Given the description of an element on the screen output the (x, y) to click on. 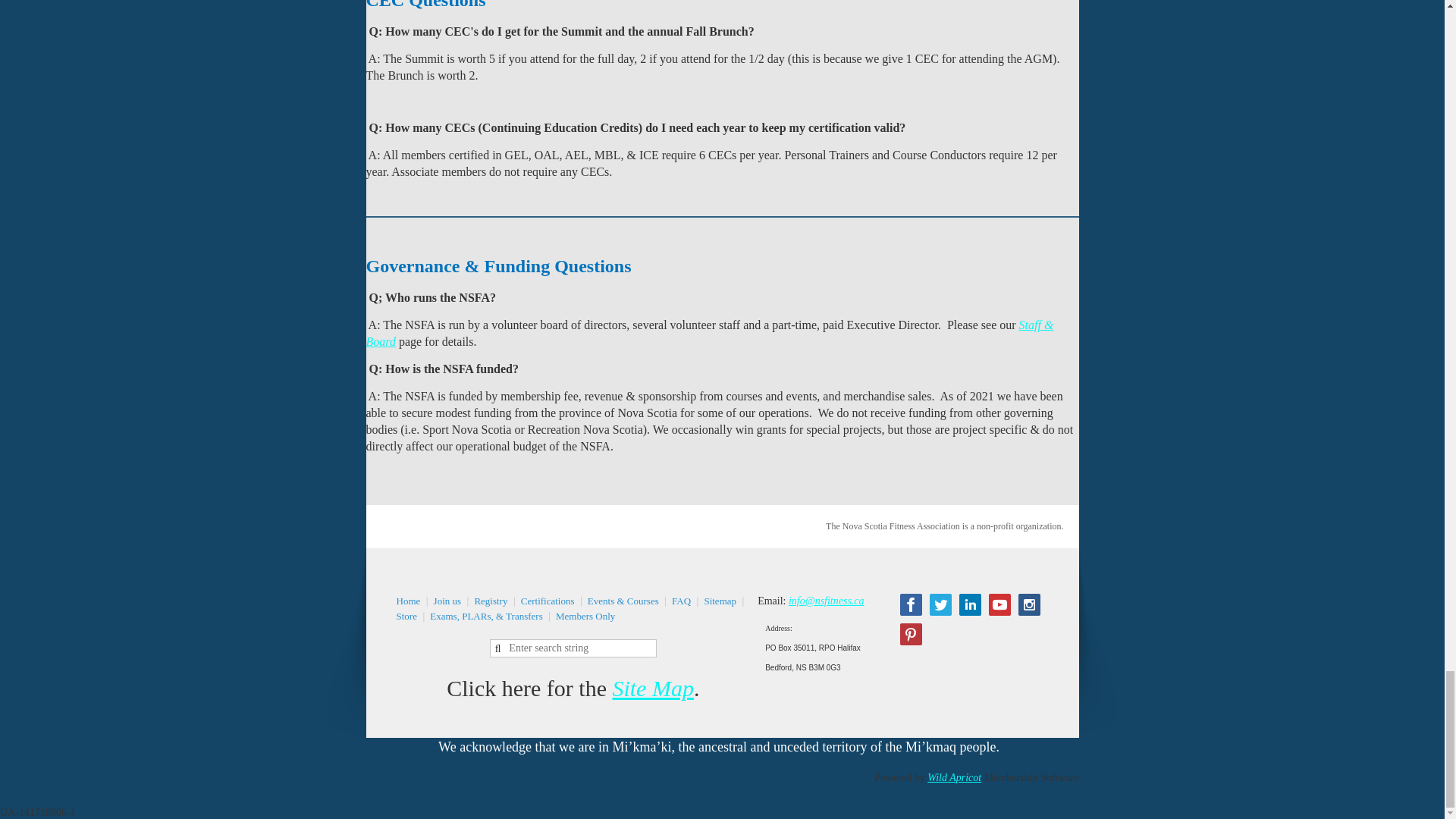
Twitter (941, 604)
Facebook (910, 604)
YouTube (999, 604)
Instagram (1029, 604)
LinkedIn (970, 604)
